Given the description of an element on the screen output the (x, y) to click on. 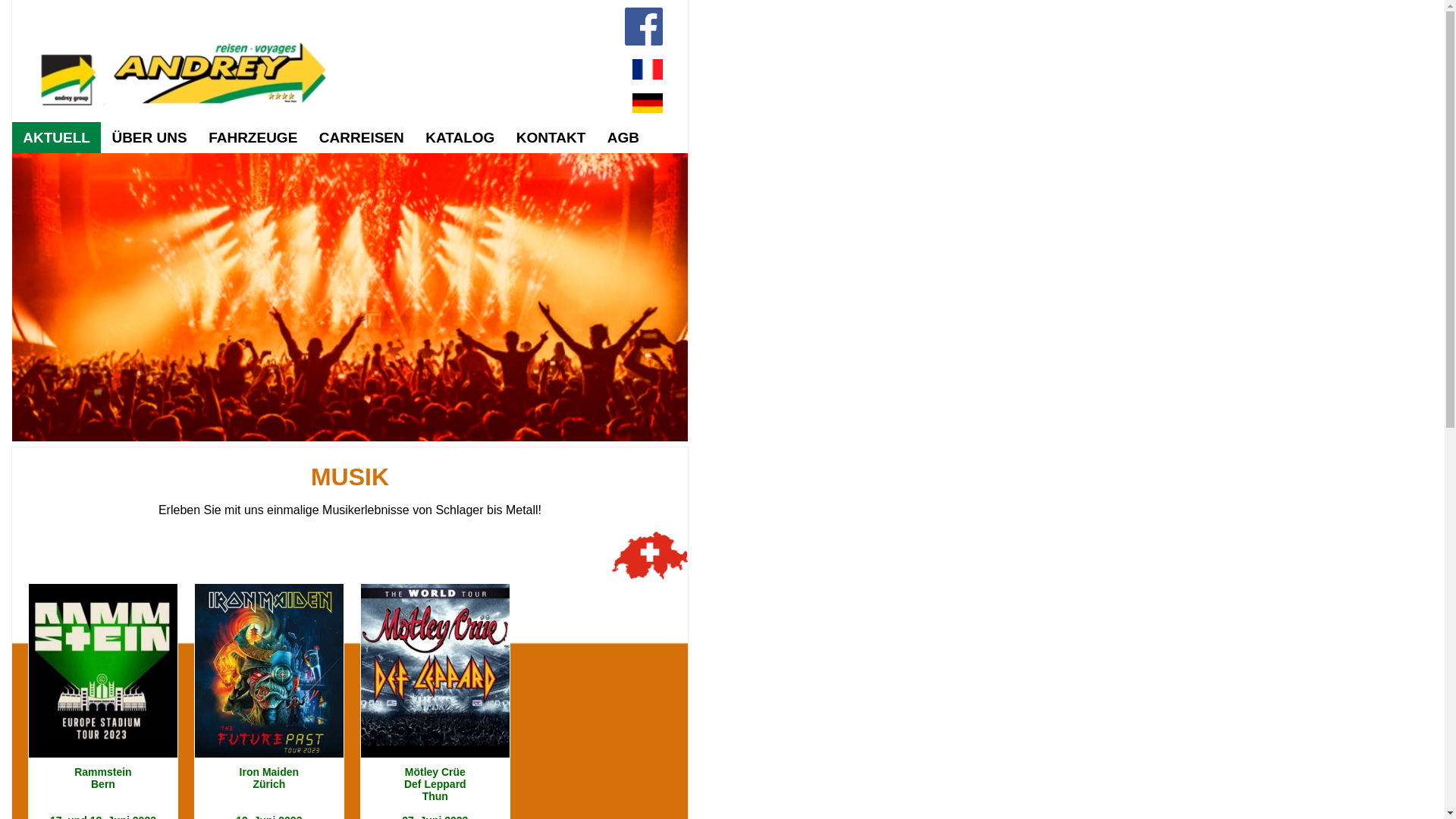
KATALOG Element type: text (459, 137)
AGB Element type: text (623, 137)
AKTUELL Element type: text (56, 137)
CARREISEN Element type: text (361, 137)
FAHRZEUGE Element type: text (252, 137)
KONTAKT Element type: text (550, 137)
